Given the description of an element on the screen output the (x, y) to click on. 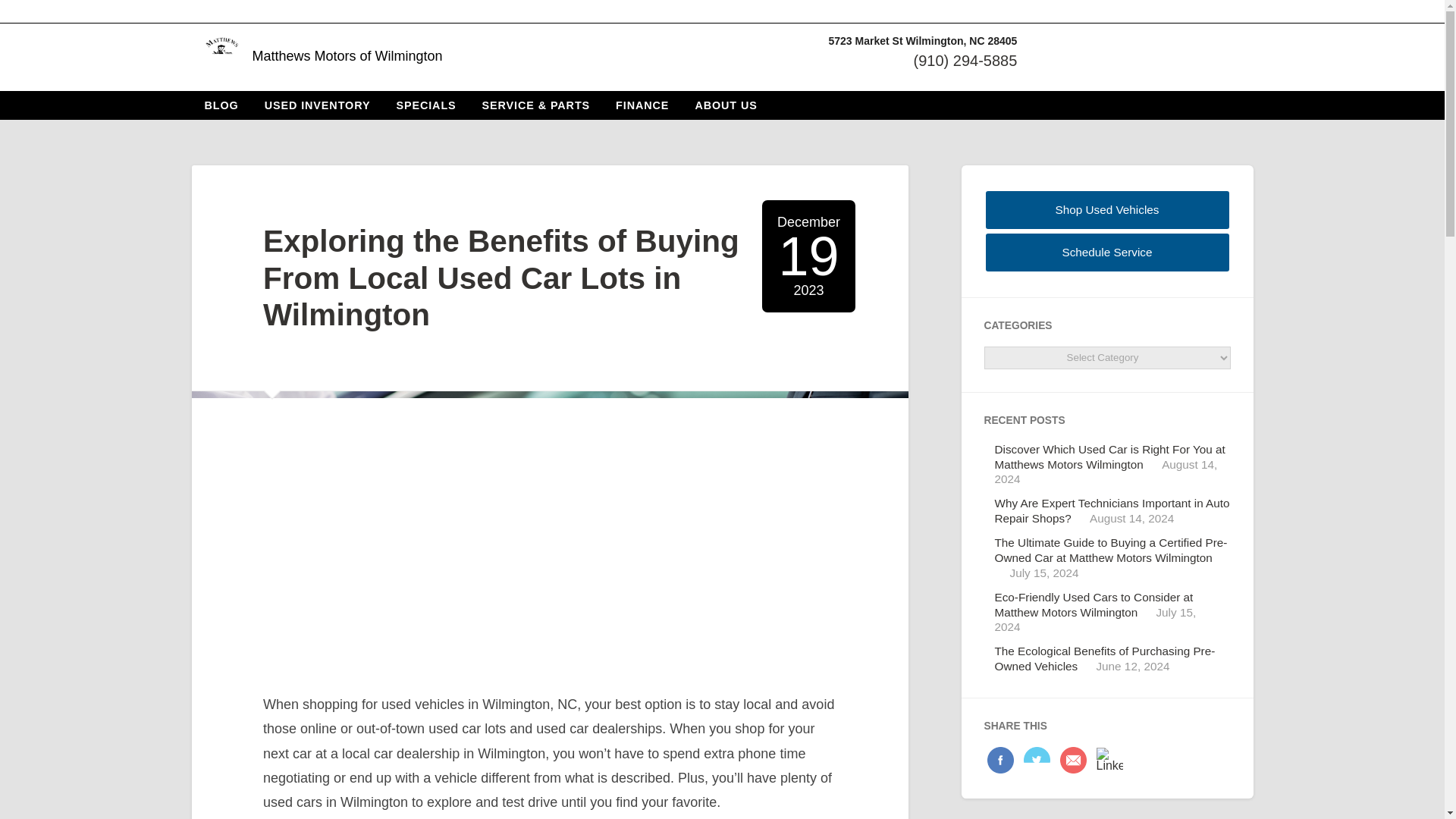
FINANCE (641, 104)
ABOUT US (725, 104)
LinkedIn (1107, 760)
Twitter (1034, 760)
Why Are Expert Technicians Important in Auto Repair Shops? (1112, 510)
SPECIALS (425, 104)
